Given the description of an element on the screen output the (x, y) to click on. 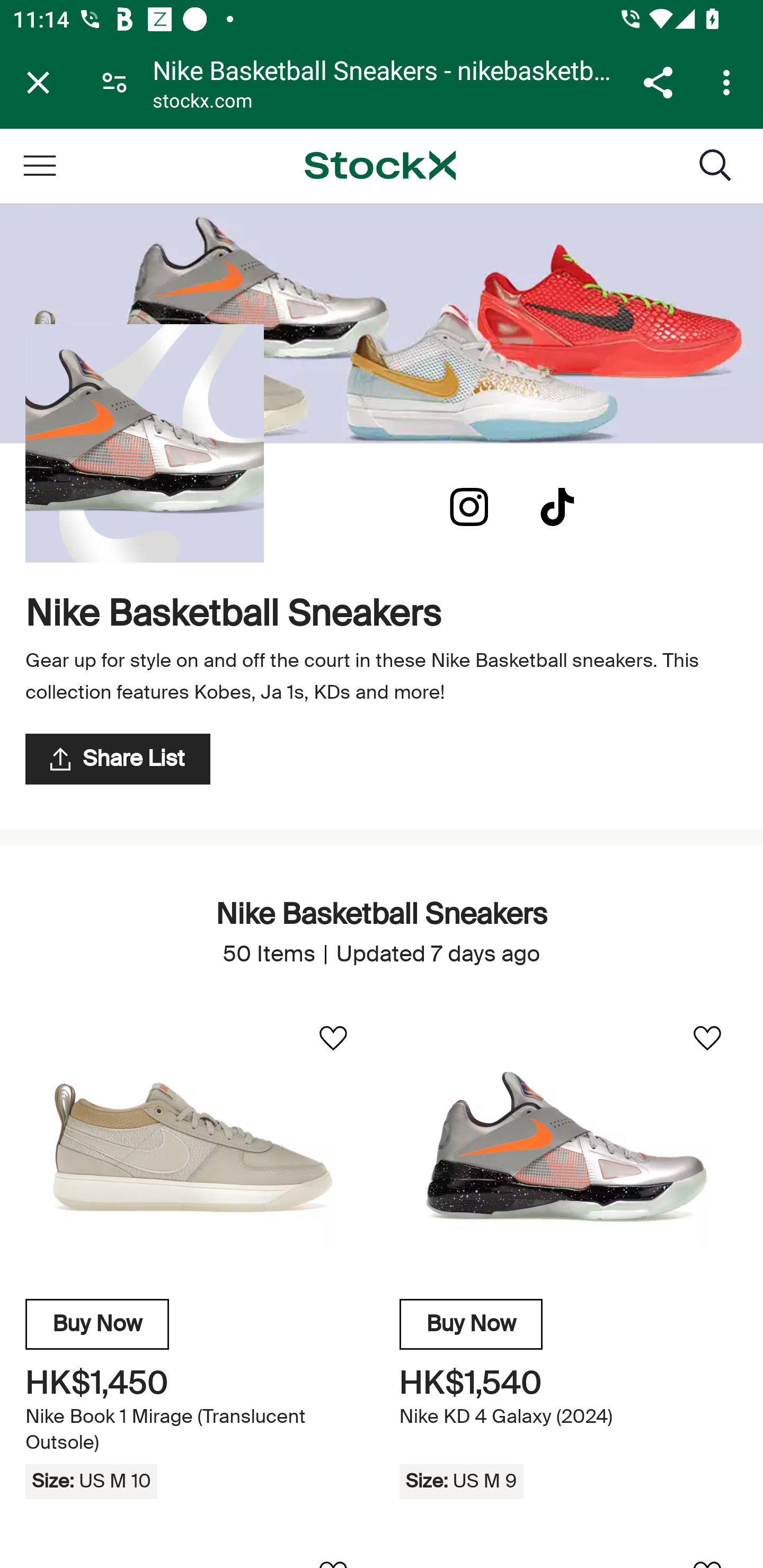
Close tab (38, 82)
Share (657, 82)
Customize and control Google Chrome (729, 82)
Connection is secure (114, 81)
stockx.com (202, 103)
Toggle Navigation (39, 165)
StockX Logo (379, 165)
?hl=en (469, 507)
@stockx (557, 507)
Share List (118, 758)
nike-book-1-light-orewood-brown?size=10 (194, 1147)
nike-kd-4-galaxy-2024?size=9 (568, 1147)
Buy Now (97, 1324)
Buy Now (471, 1324)
